Given the description of an element on the screen output the (x, y) to click on. 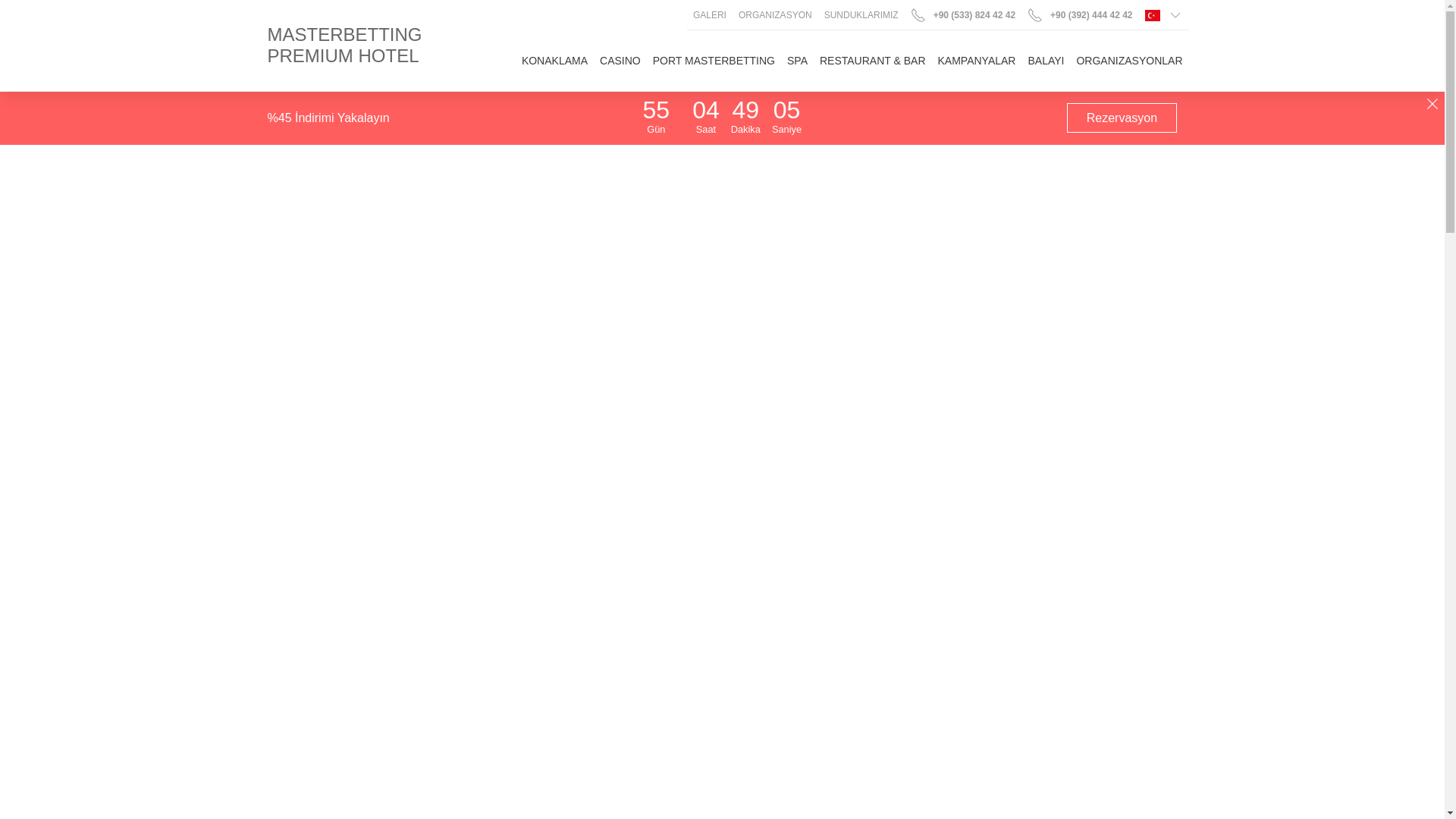
SUNDUKLARIMIZ (861, 14)
MASTERBETTING PREMIUM HOTEL (360, 45)
KONAKLAMA (554, 60)
ORGANIZASYON (775, 14)
GALERI (709, 14)
ORGANIZASYONLAR (1129, 60)
KAMPANYALAR (976, 60)
PORT MASTERBETTING (713, 60)
